Given the description of an element on the screen output the (x, y) to click on. 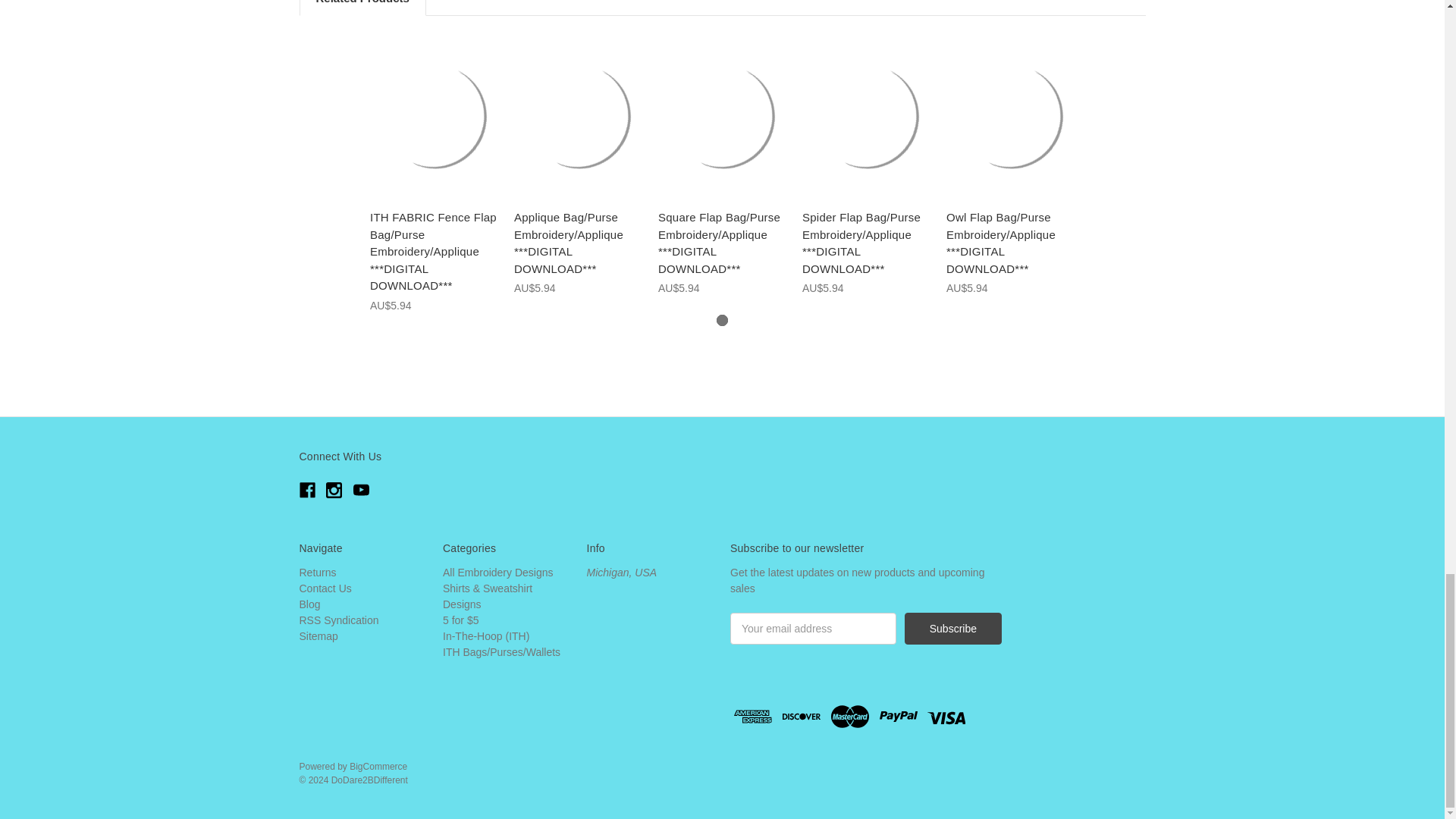
Subscribe (952, 628)
